Given the description of an element on the screen output the (x, y) to click on. 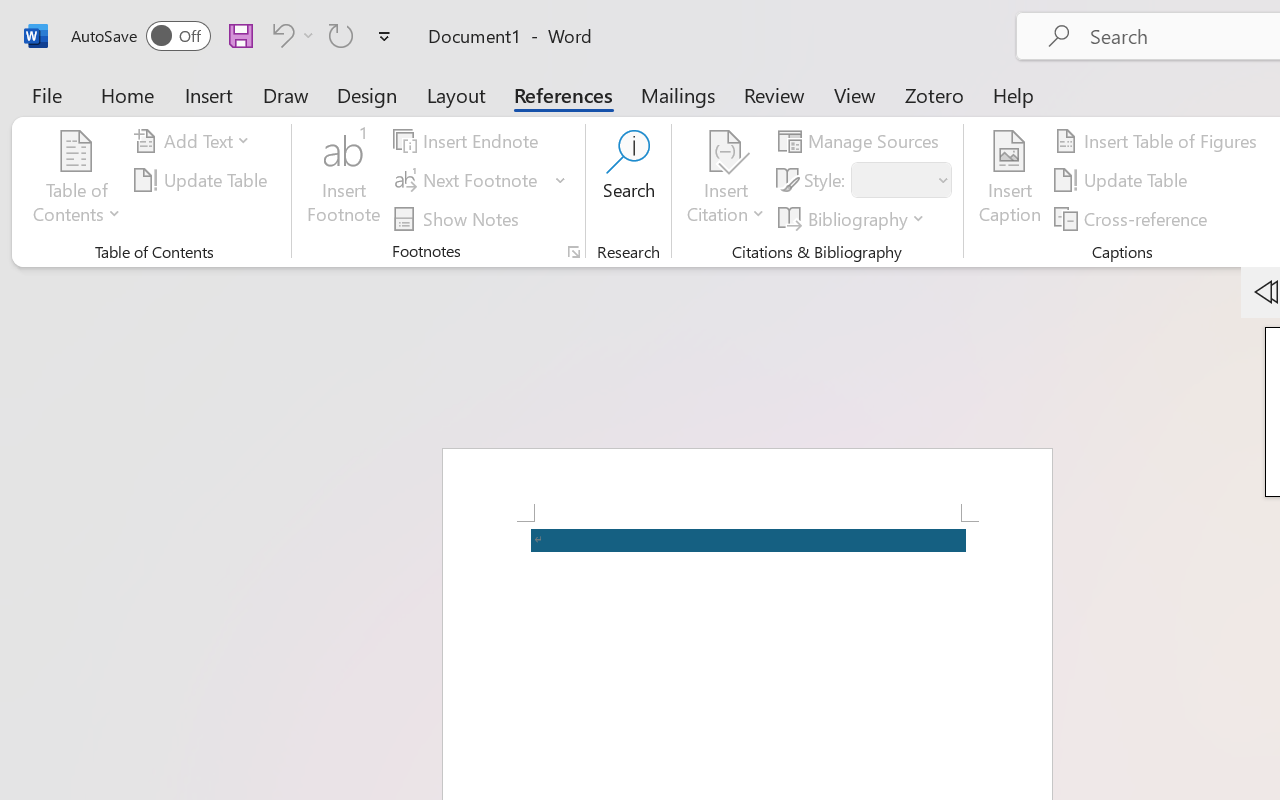
Footnote and Endnote Dialog... (573, 252)
Show Notes (459, 218)
Style (892, 179)
Next Footnote (479, 179)
Insert Footnote (344, 179)
Table of Contents (77, 179)
Style (901, 179)
